Given the description of an element on the screen output the (x, y) to click on. 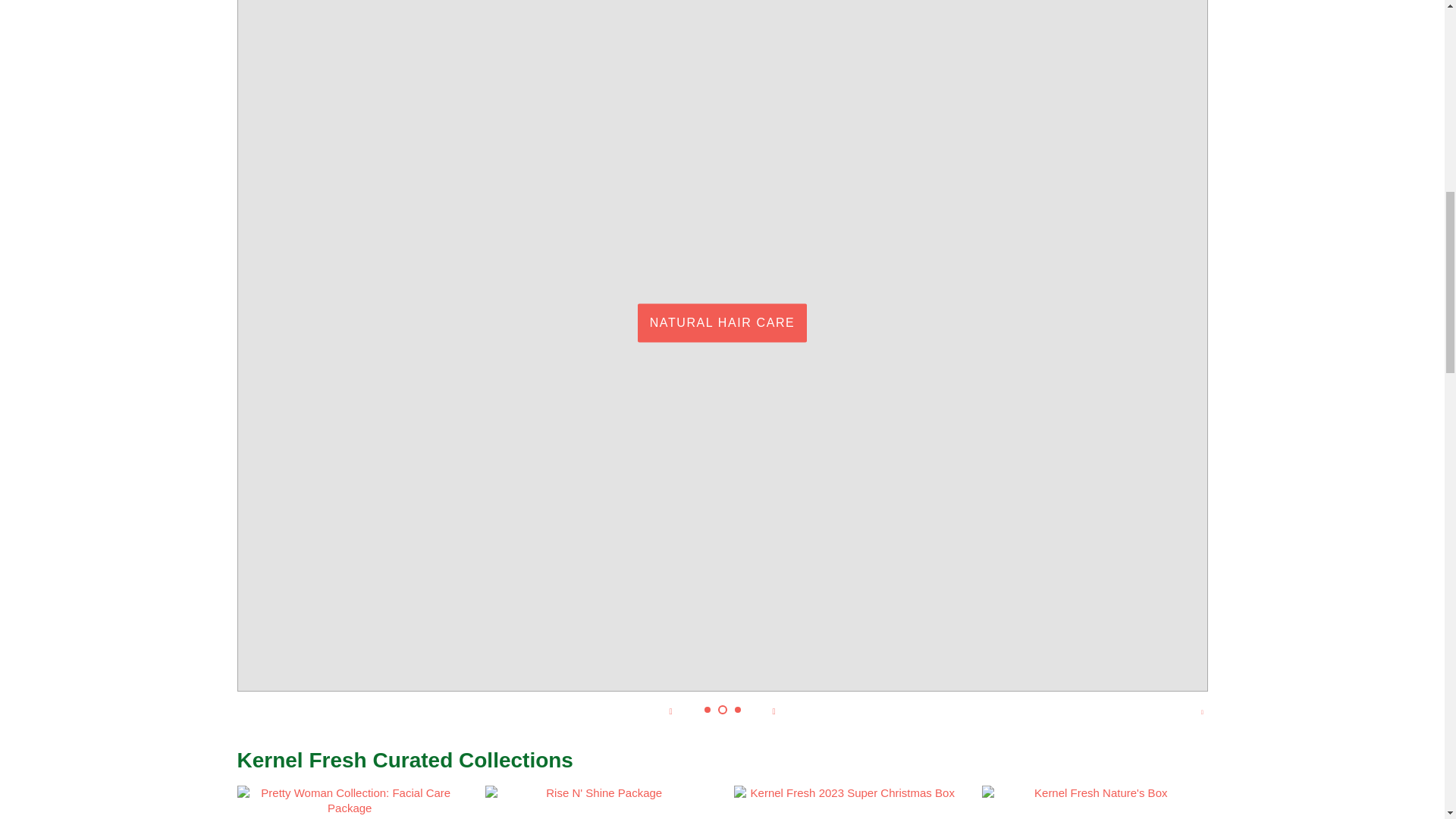
3 (736, 709)
1 (706, 709)
NATURAL HAIR CARE (722, 322)
2 (721, 709)
